Given the description of an element on the screen output the (x, y) to click on. 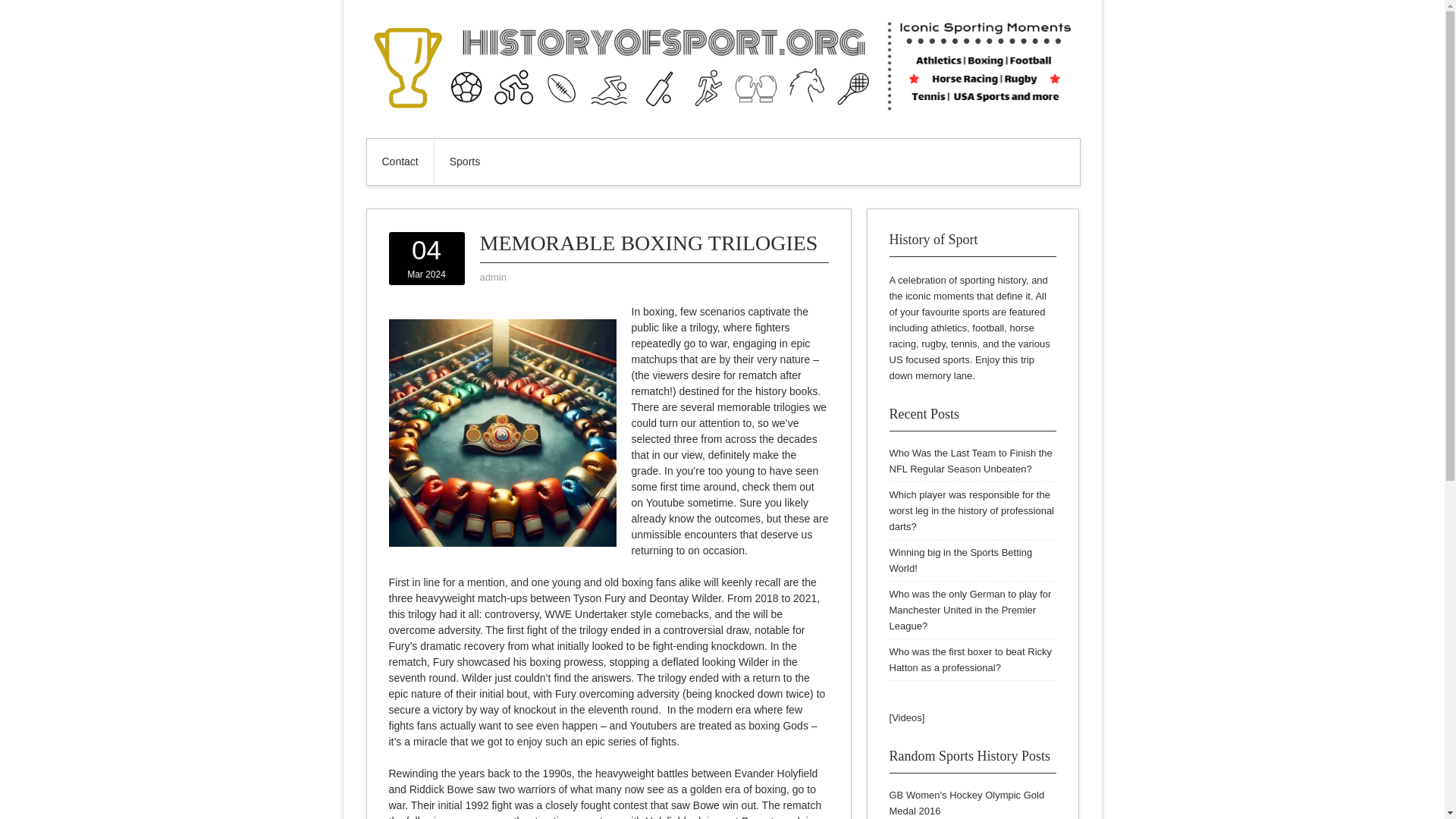
by admin (492, 276)
March 4, 2024 3:06 pm (426, 258)
admin (492, 276)
Contact (399, 161)
Memorable Boxing Trilogies   (501, 433)
Winning big in the Sports Betting World! (960, 560)
